Given the description of an element on the screen output the (x, y) to click on. 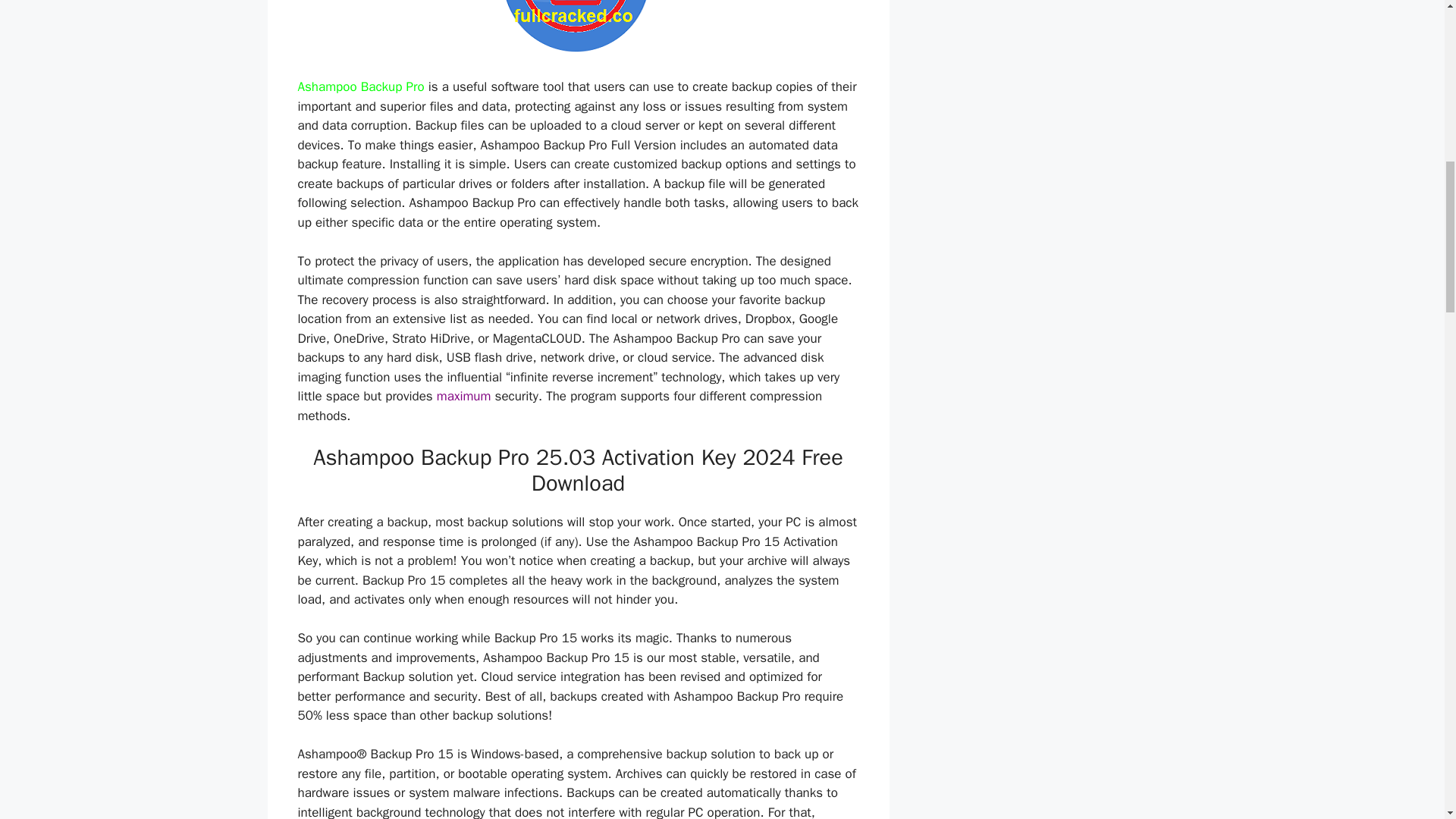
Ashampoo Backup Pro 25.03 Serial Key 2024 Free Download (577, 26)
Ashampoo Backup Pro (360, 86)
